Given the description of an element on the screen output the (x, y) to click on. 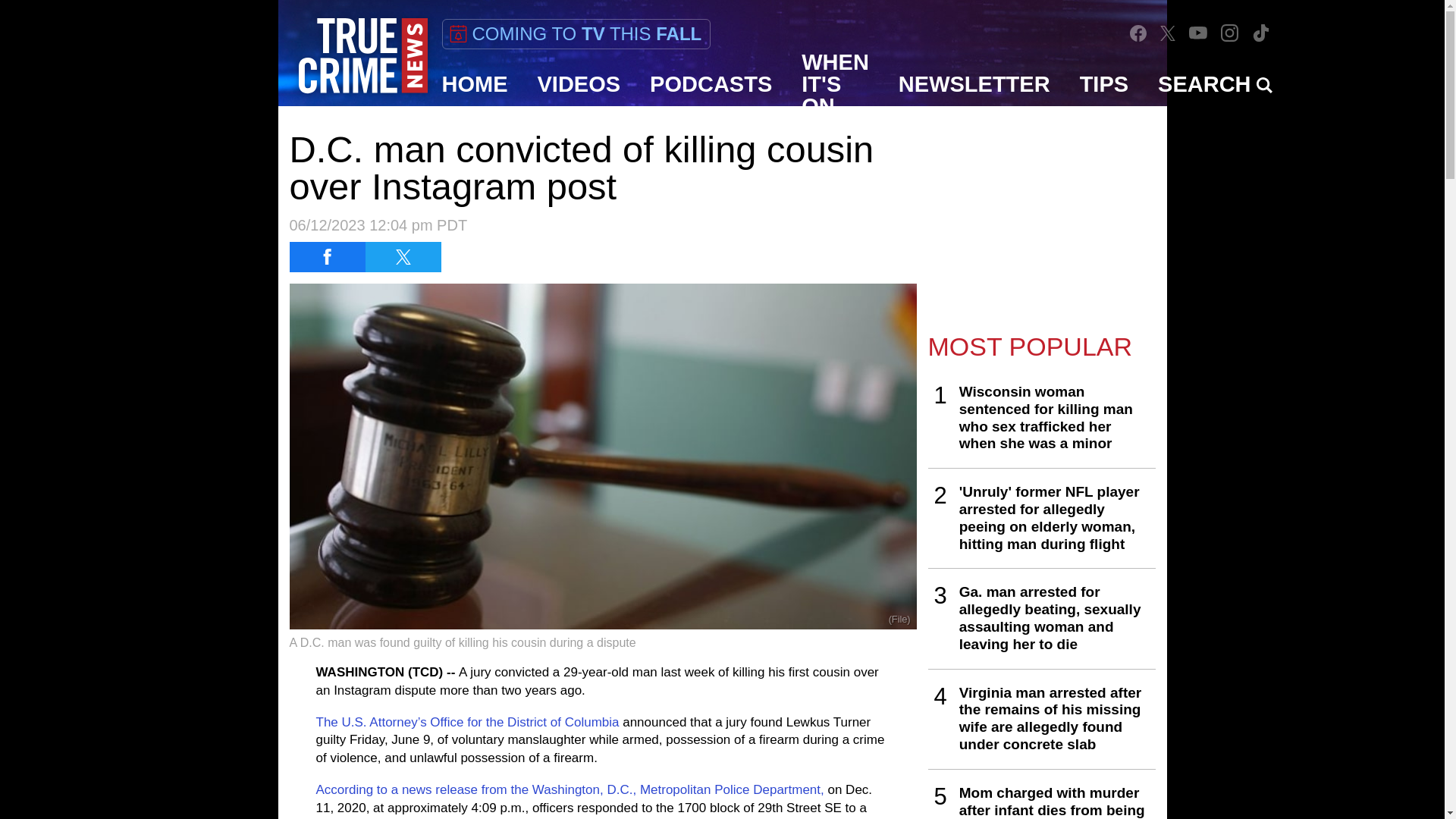
NEWSLETTER (974, 84)
TIPS (1103, 84)
WHEN IT'S ON (835, 84)
TikTok (1260, 32)
PODCASTS (710, 84)
VIDEOS (579, 84)
YouTube (1198, 32)
Facebook (1137, 33)
Twitter (1167, 32)
Twitter (1167, 32)
